Given the description of an element on the screen output the (x, y) to click on. 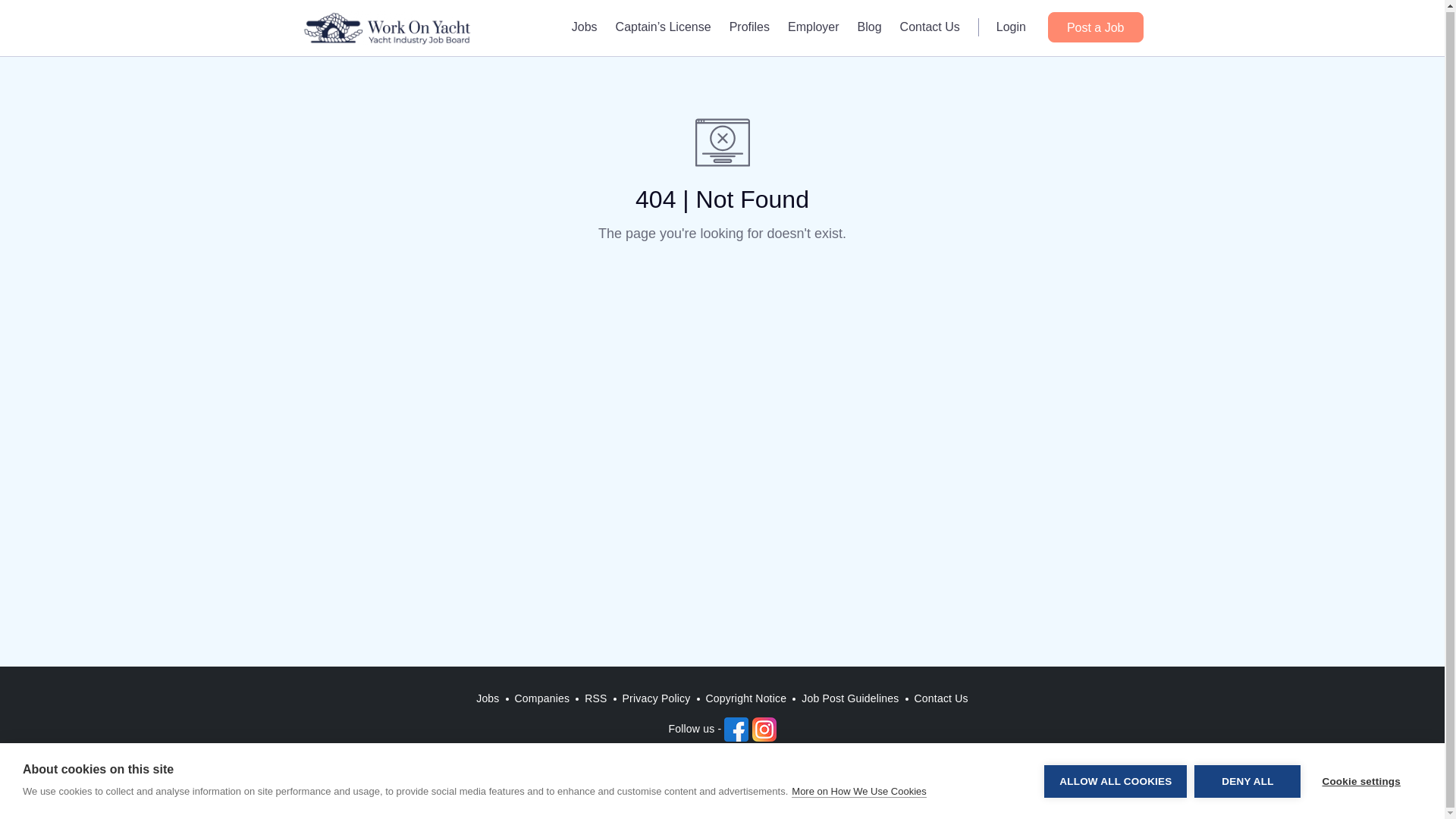
Jobs (584, 25)
Privacy Policy (656, 698)
DENY ALL (1246, 779)
More on How We Use Cookies (859, 790)
Login (1011, 25)
Cookie settings (1360, 780)
ALLOW ALL COOKIES (1114, 779)
Contact Us (930, 25)
Contact Us (941, 698)
Employer (813, 25)
